Given the description of an element on the screen output the (x, y) to click on. 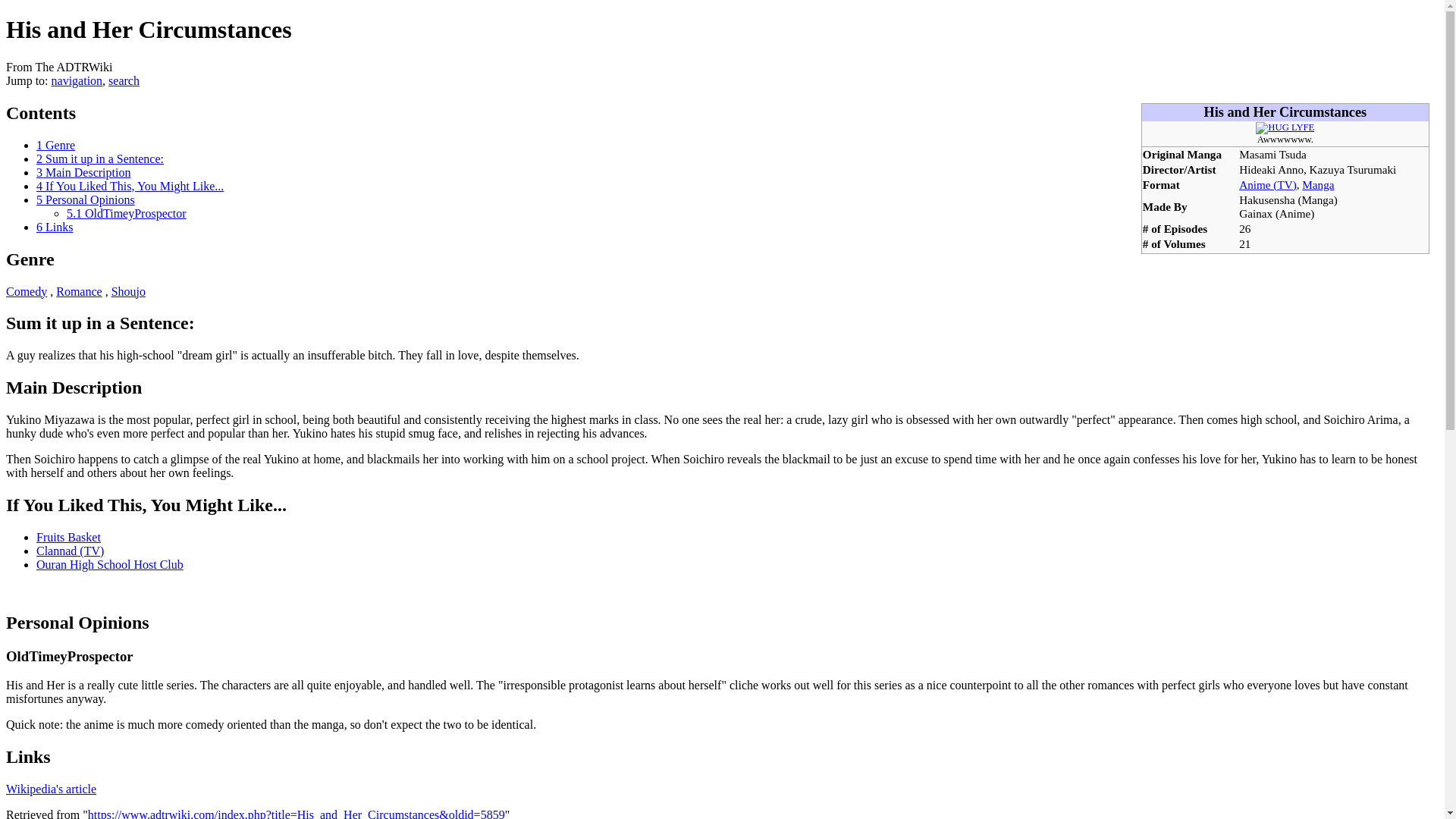
Romance (78, 291)
1 Genre (55, 144)
Category:Shoujo (128, 291)
5 Personal Opinions (85, 199)
Ouran High School Host Club (109, 563)
search (123, 80)
Fruits Basket (68, 536)
Category:Manga (1317, 184)
Ouran High School Host Club (109, 563)
Fruits Basket (68, 536)
Category:Romance (78, 291)
navigation (76, 80)
Comedy (25, 291)
Wikipedia's article (50, 788)
4 If You Liked This, You Might Like... (130, 185)
